Given the description of an element on the screen output the (x, y) to click on. 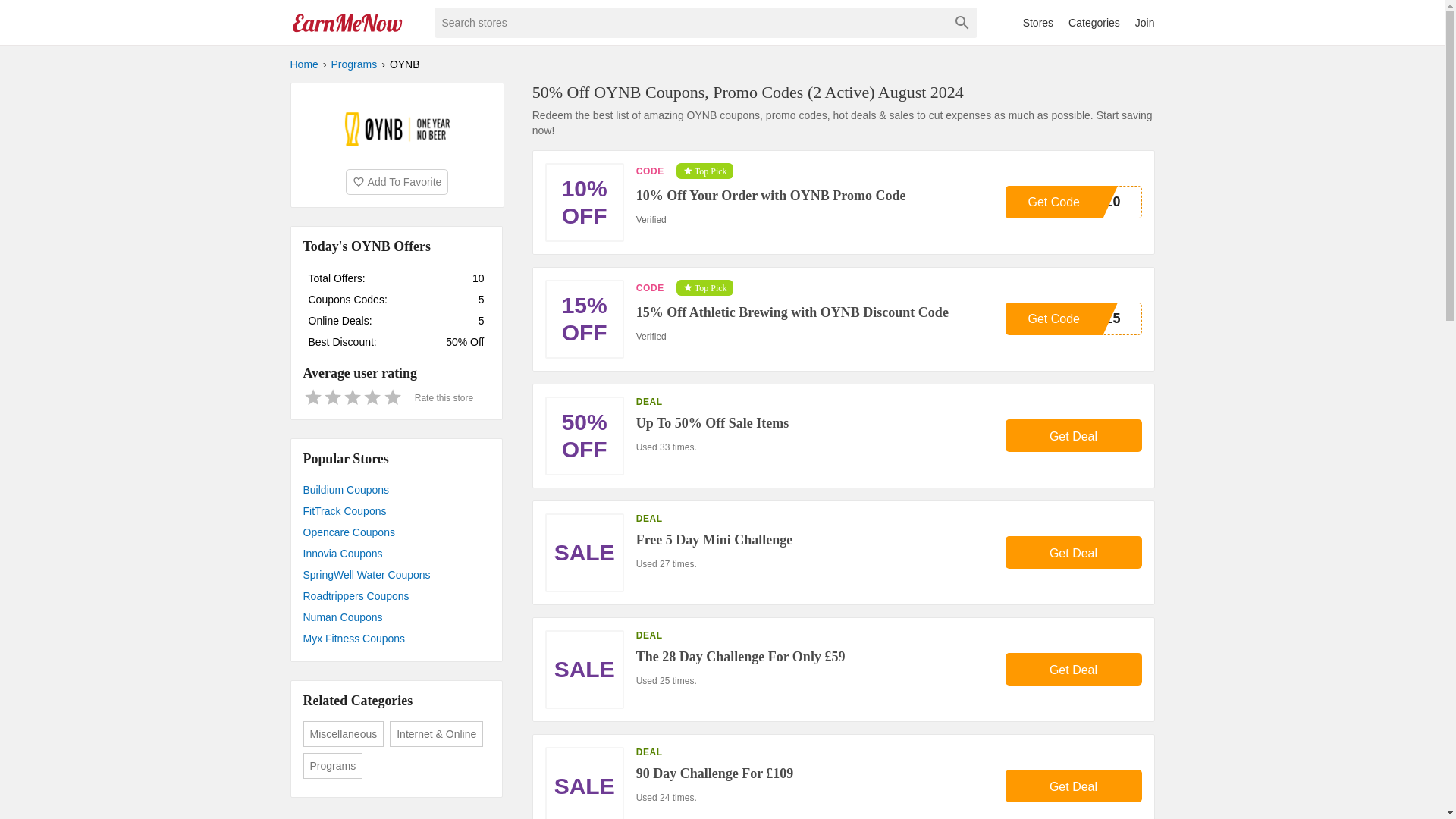
Buildium Coupons (395, 489)
Stores (1037, 22)
Innovia Coupons (395, 553)
Join (1144, 22)
Programs (354, 64)
Myx Fitness Coupons (395, 638)
Home (303, 64)
FitTrack Coupons (395, 510)
Get Deal (1073, 785)
Categories (1093, 22)
Get Deal (1073, 435)
